Given the description of an element on the screen output the (x, y) to click on. 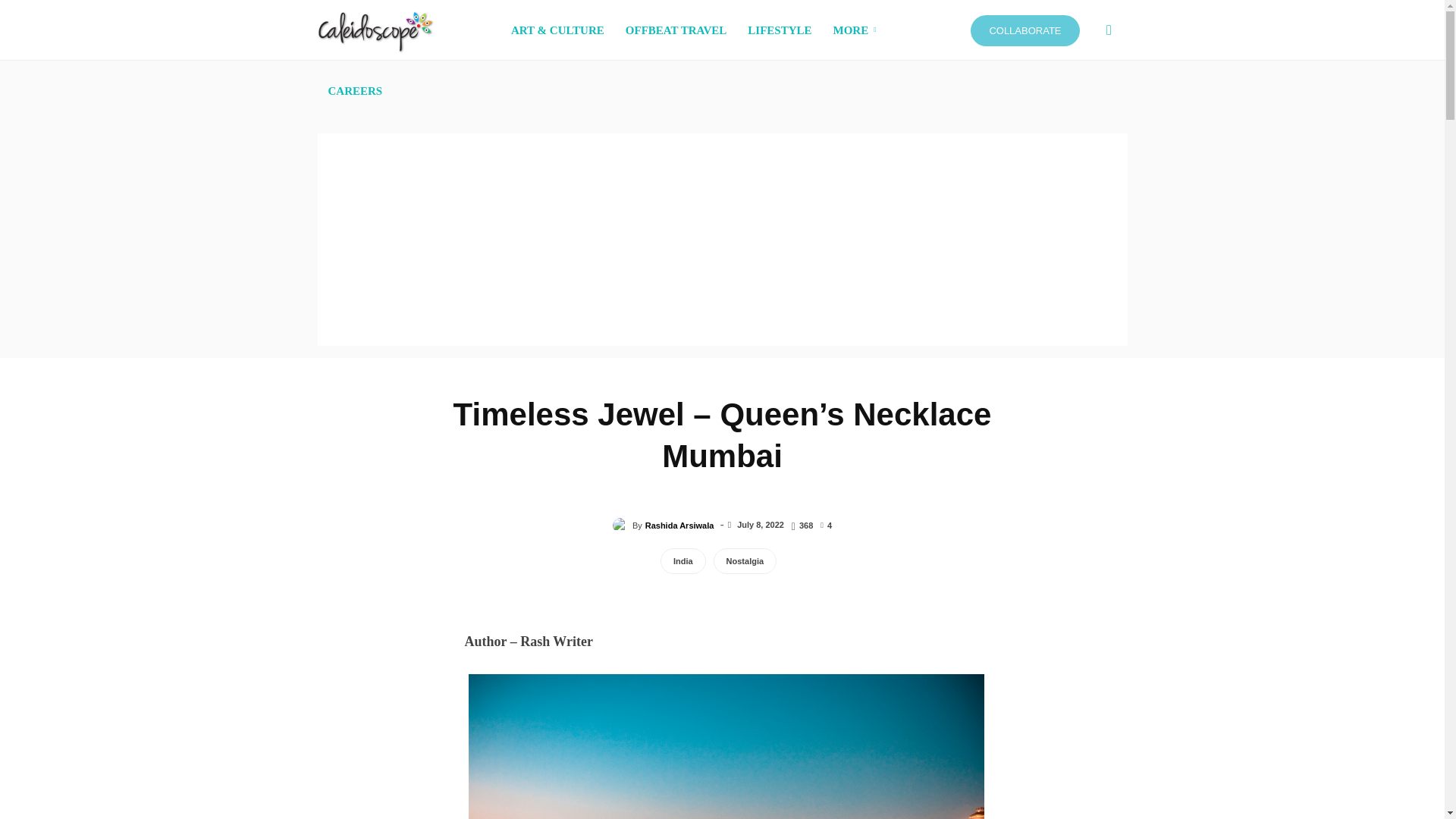
Search (1085, 102)
CAREERS (355, 90)
Rashida Arsiwala (679, 525)
4 (826, 524)
Nostalgia (745, 560)
COLLABORATE (1024, 30)
LIFESTYLE (779, 30)
Rashida Arsiwala (621, 525)
COLLABORATE (1024, 30)
MORE (857, 30)
OFFBEAT TRAVEL (676, 30)
India (683, 560)
